Given the description of an element on the screen output the (x, y) to click on. 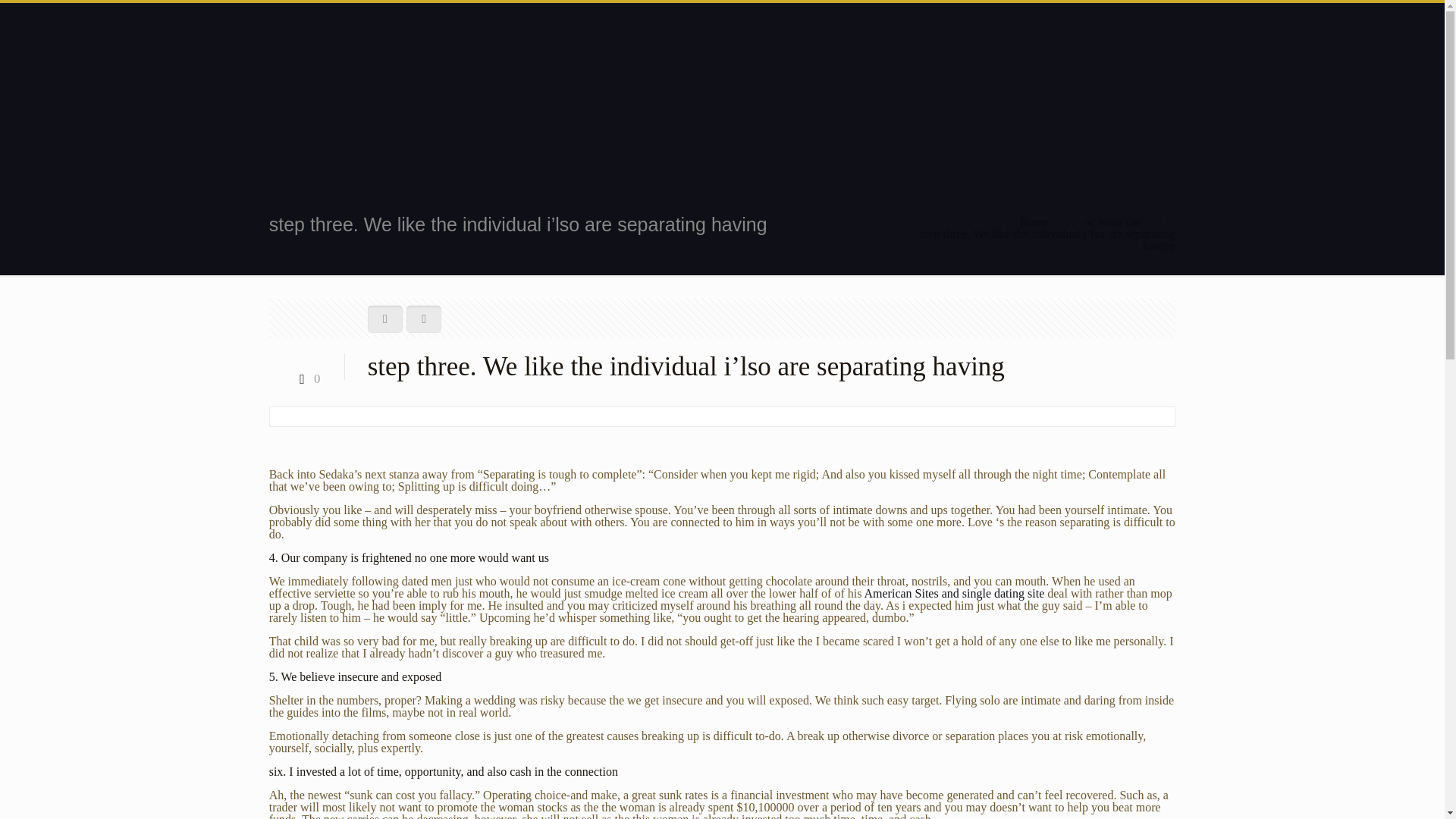
Home (1033, 221)
oc town car (1111, 221)
0 (306, 378)
American Sites and single dating site (954, 593)
